Given the description of an element on the screen output the (x, y) to click on. 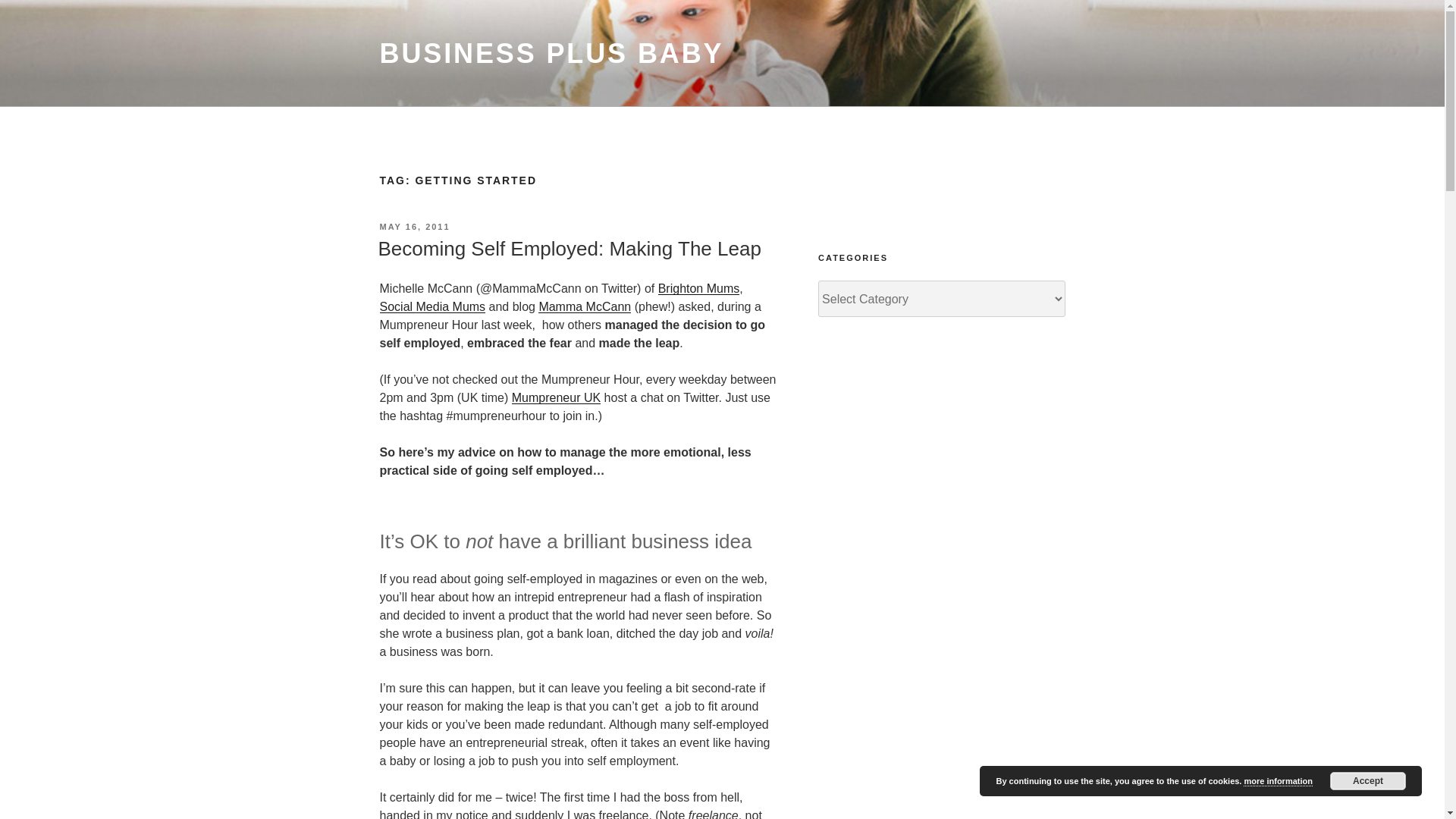
Mamma McCann (584, 306)
Becoming Self Employed: Making The Leap (568, 248)
Accept (1368, 781)
Brighton Mums (698, 287)
more information (1277, 781)
Social Media Mums (431, 306)
MAY 16, 2011 (413, 225)
Mumpreneur UK (555, 397)
BUSINESS PLUS BABY (550, 52)
